Given the description of an element on the screen output the (x, y) to click on. 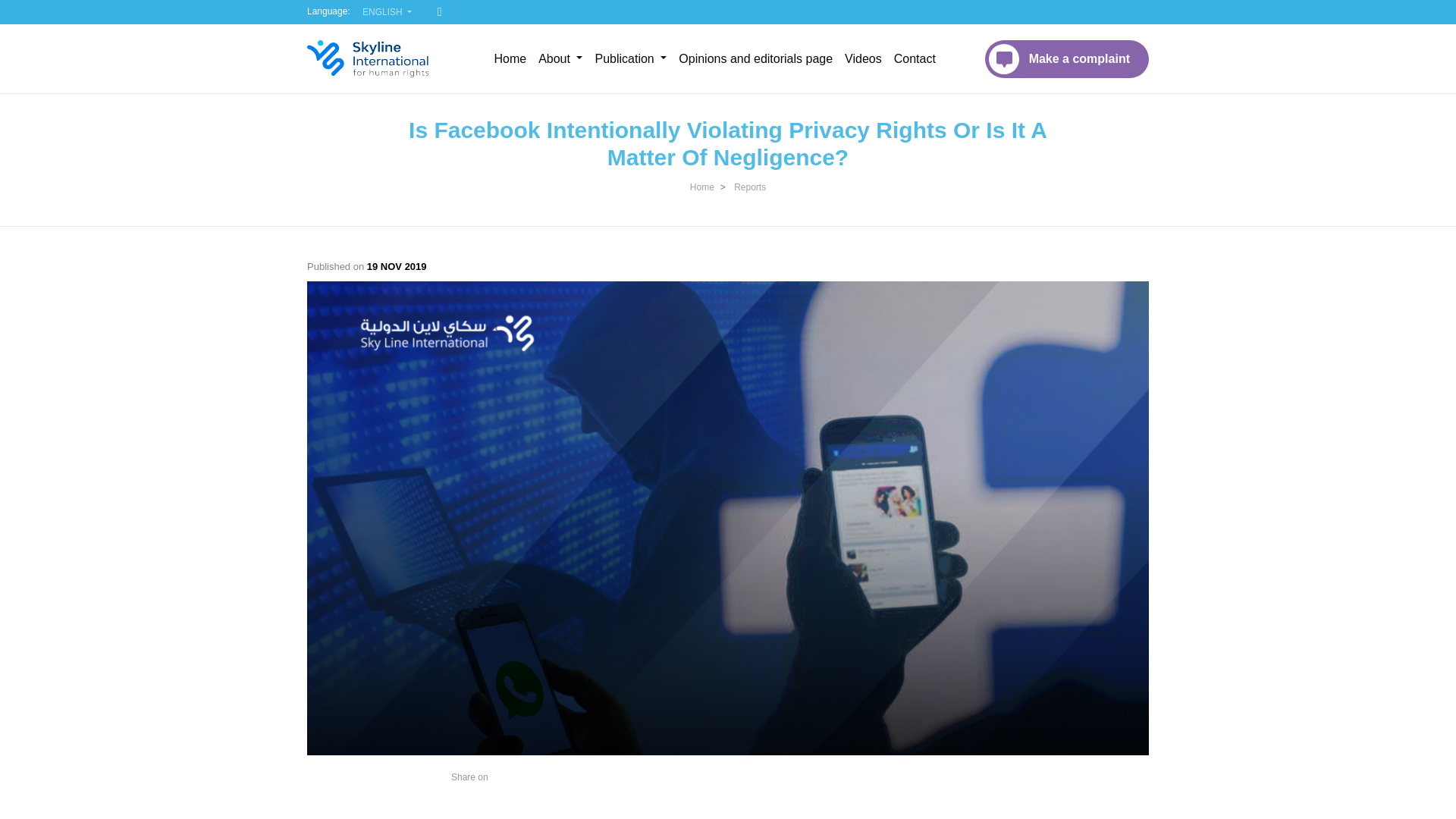
ENGLISH (387, 12)
Make a complaint (1066, 57)
Home (509, 59)
About (560, 59)
Contact (915, 59)
Publication (630, 59)
Home (702, 186)
Make a complaint (1066, 57)
Reports (749, 186)
Videos (863, 59)
